Given the description of an element on the screen output the (x, y) to click on. 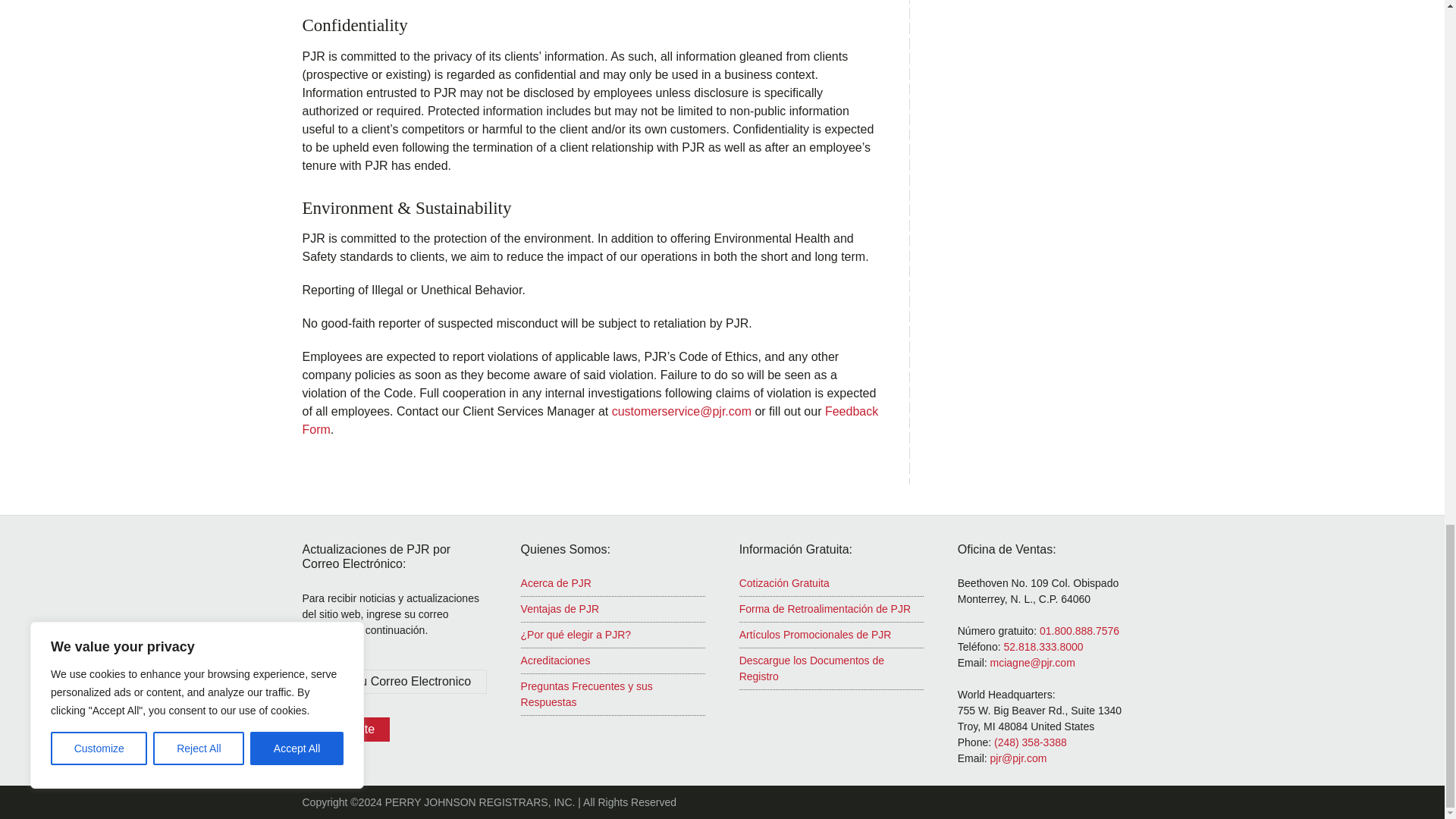
Suscribete (345, 729)
